Given the description of an element on the screen output the (x, y) to click on. 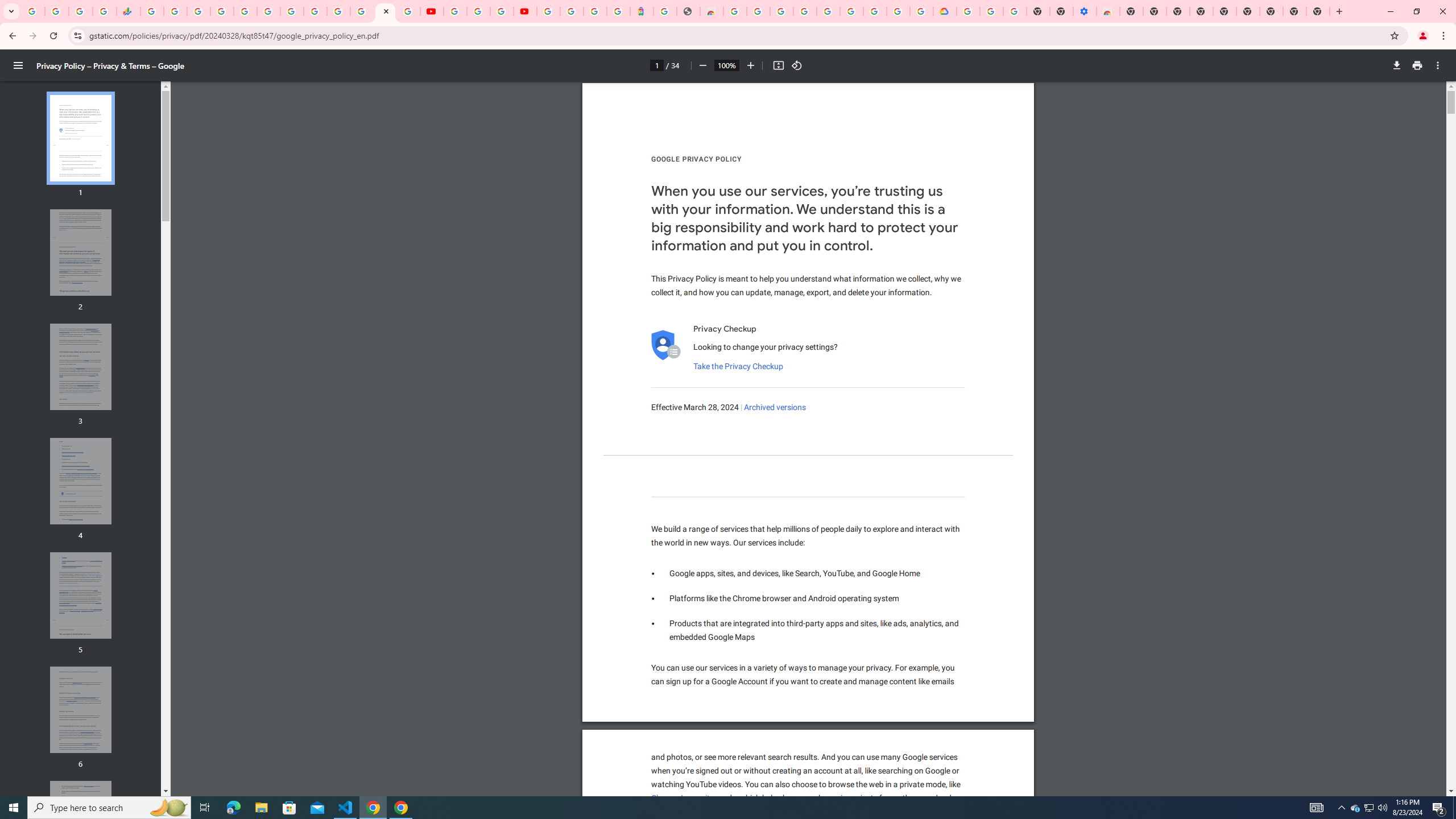
Sign in - Google Accounts (968, 11)
Thumbnail for page 3 (80, 366)
Rotate counterclockwise (796, 65)
Chrome Incognito (682, 798)
Archived versions (775, 406)
Thumbnail for page 4 (80, 481)
Zoom out (702, 65)
Google Account Help (478, 11)
Sign in - Google Accounts (827, 11)
New Tab (1131, 11)
